Given the description of an element on the screen output the (x, y) to click on. 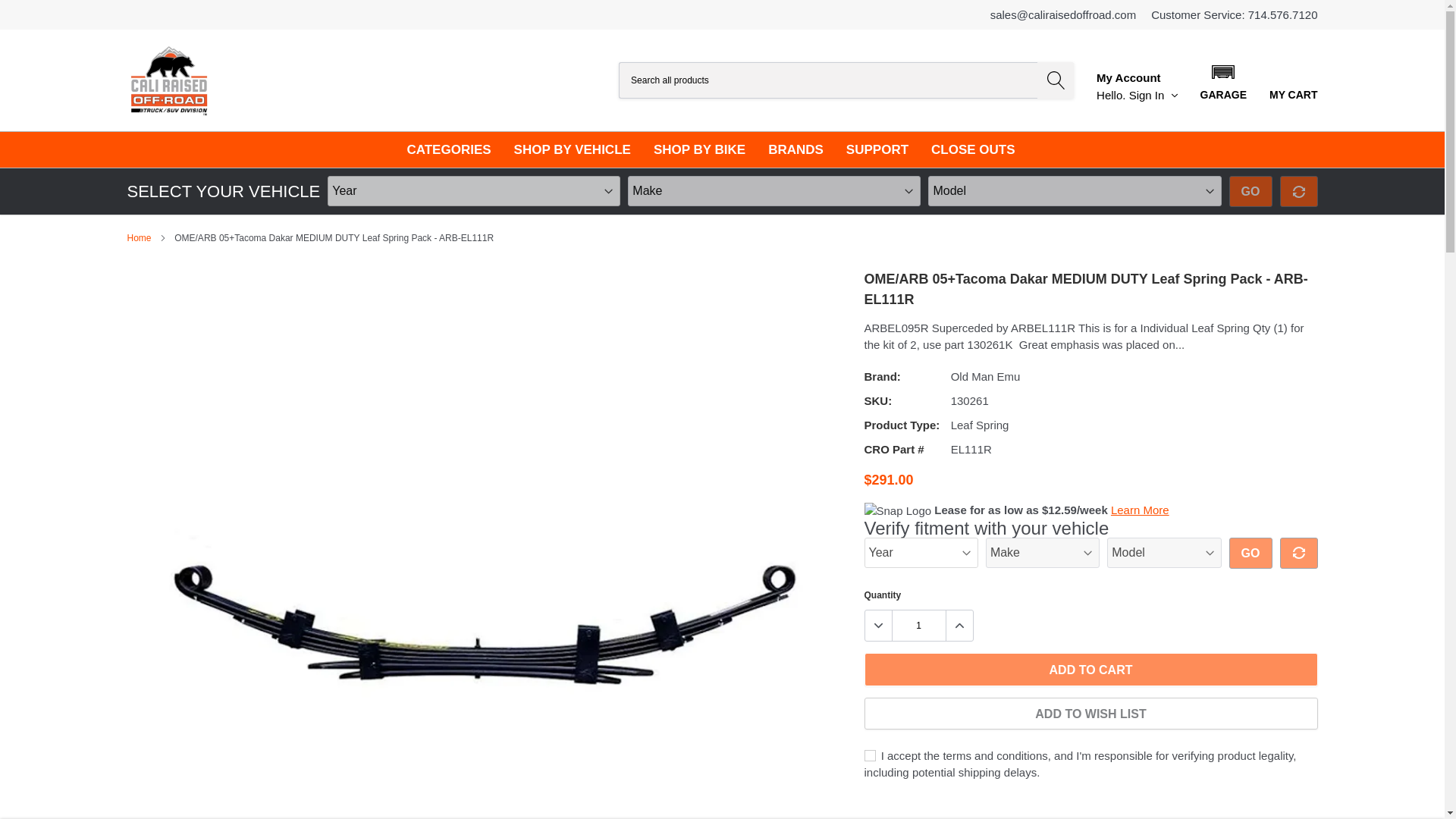
MY CART (1293, 79)
1 (917, 625)
GARAGE (1222, 79)
Customer Service: 714.576.7120 (1234, 14)
Search (1055, 80)
CATEGORIES (448, 149)
Sign In (1153, 94)
